Given the description of an element on the screen output the (x, y) to click on. 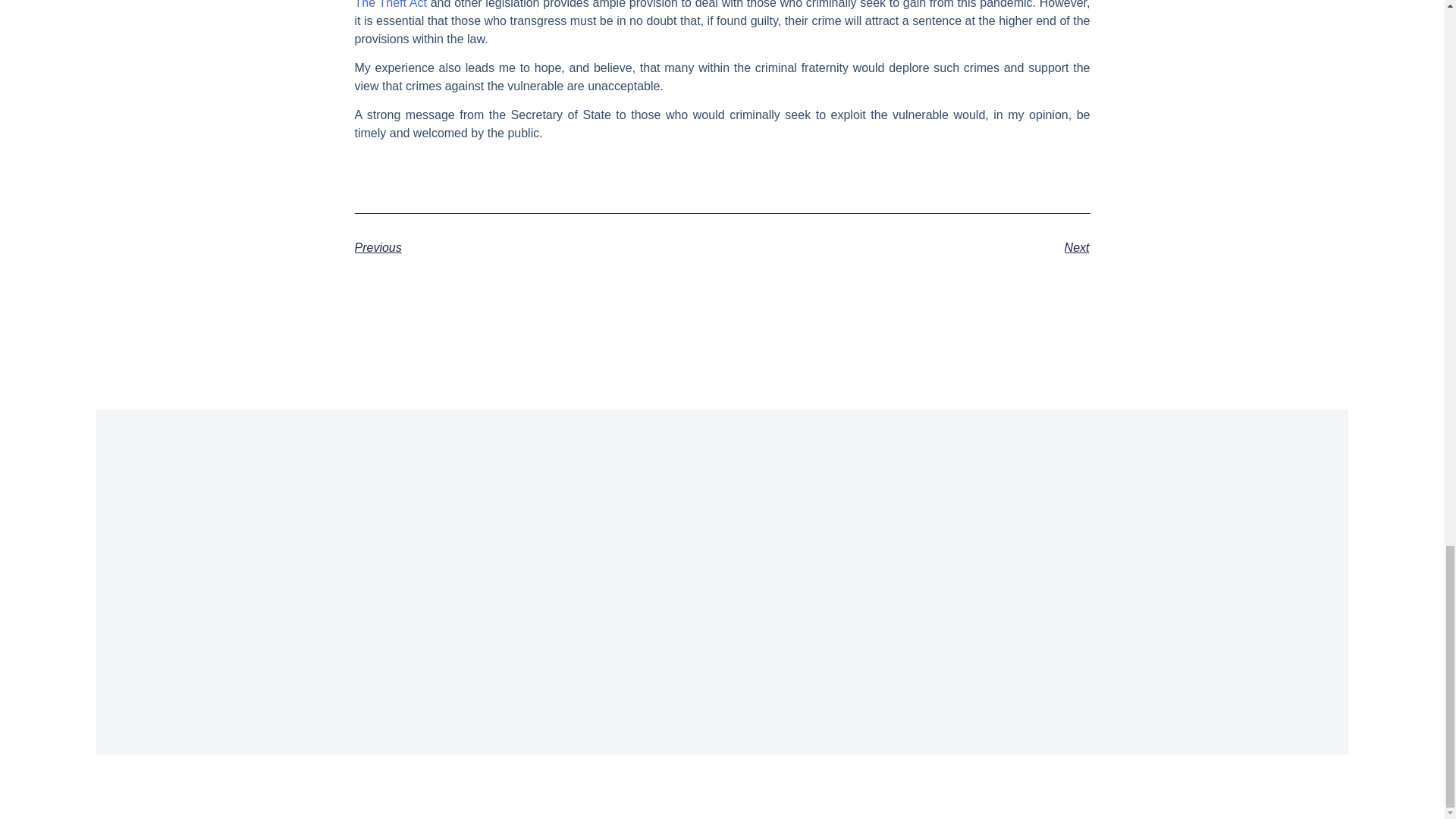
Next (905, 247)
The Theft Act (390, 4)
Previous (538, 247)
